Given the description of an element on the screen output the (x, y) to click on. 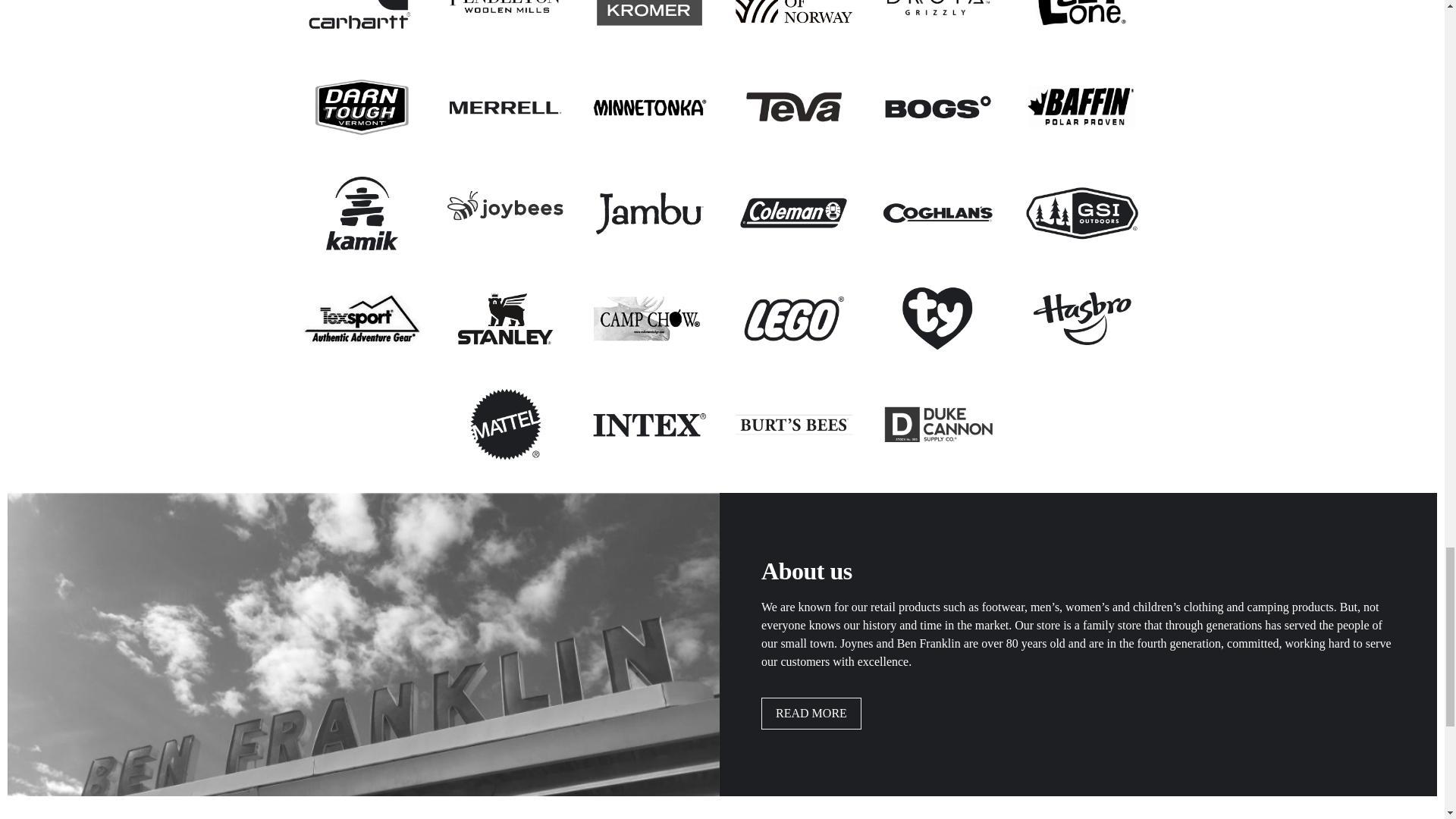
READ MORE (811, 713)
